Given the description of an element on the screen output the (x, y) to click on. 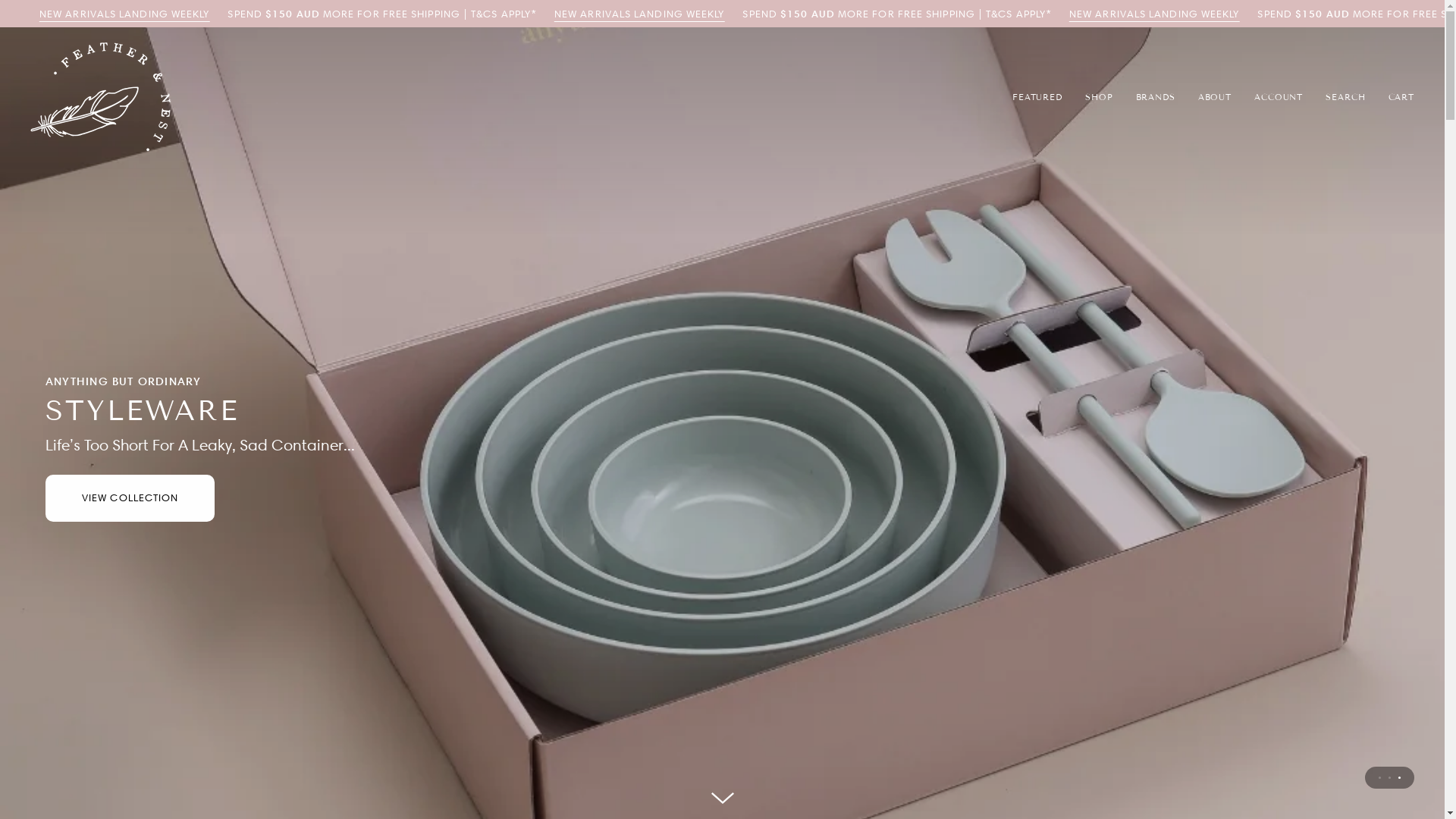
NEW ARRIVALS LANDING WEEKLY Element type: text (124, 13)
NEW ARRIVALS LANDING WEEKLY Element type: text (1154, 13)
SHOP Element type: text (1098, 96)
BRANDS Element type: text (1154, 96)
FEATURED Element type: text (1037, 96)
View slide 3 Element type: text (1399, 777)
NEW ARRIVALS LANDING WEEKLY Element type: text (639, 13)
ACCOUNT Element type: text (1278, 96)
ABOUT Element type: text (1214, 96)
View slide 1 Element type: text (1379, 777)
VIEW COLLECTION Element type: text (129, 497)
SEARCH Element type: text (1345, 96)
View slide 2 Element type: text (1389, 777)
CART Element type: text (1401, 96)
